Given the description of an element on the screen output the (x, y) to click on. 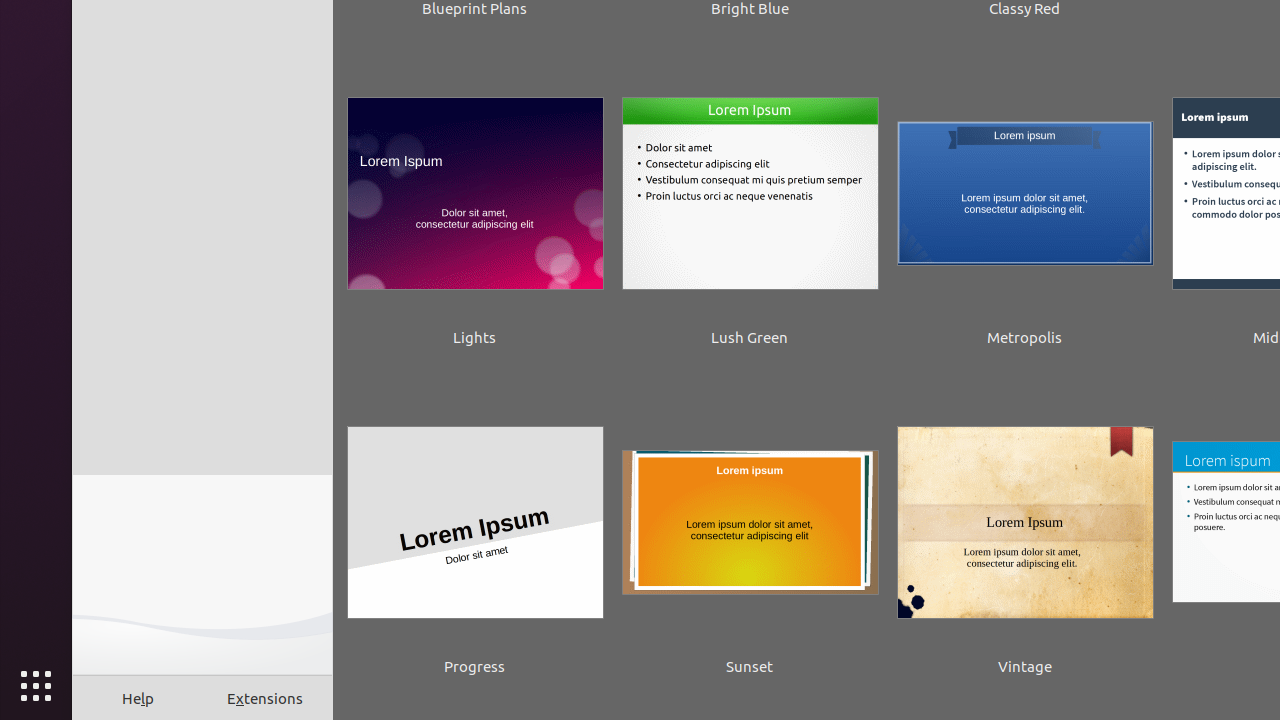
Extensions Element type: push-button (265, 698)
Lush Green Element type: list-item (750, 208)
Vintage Element type: list-item (1025, 537)
